Given the description of an element on the screen output the (x, y) to click on. 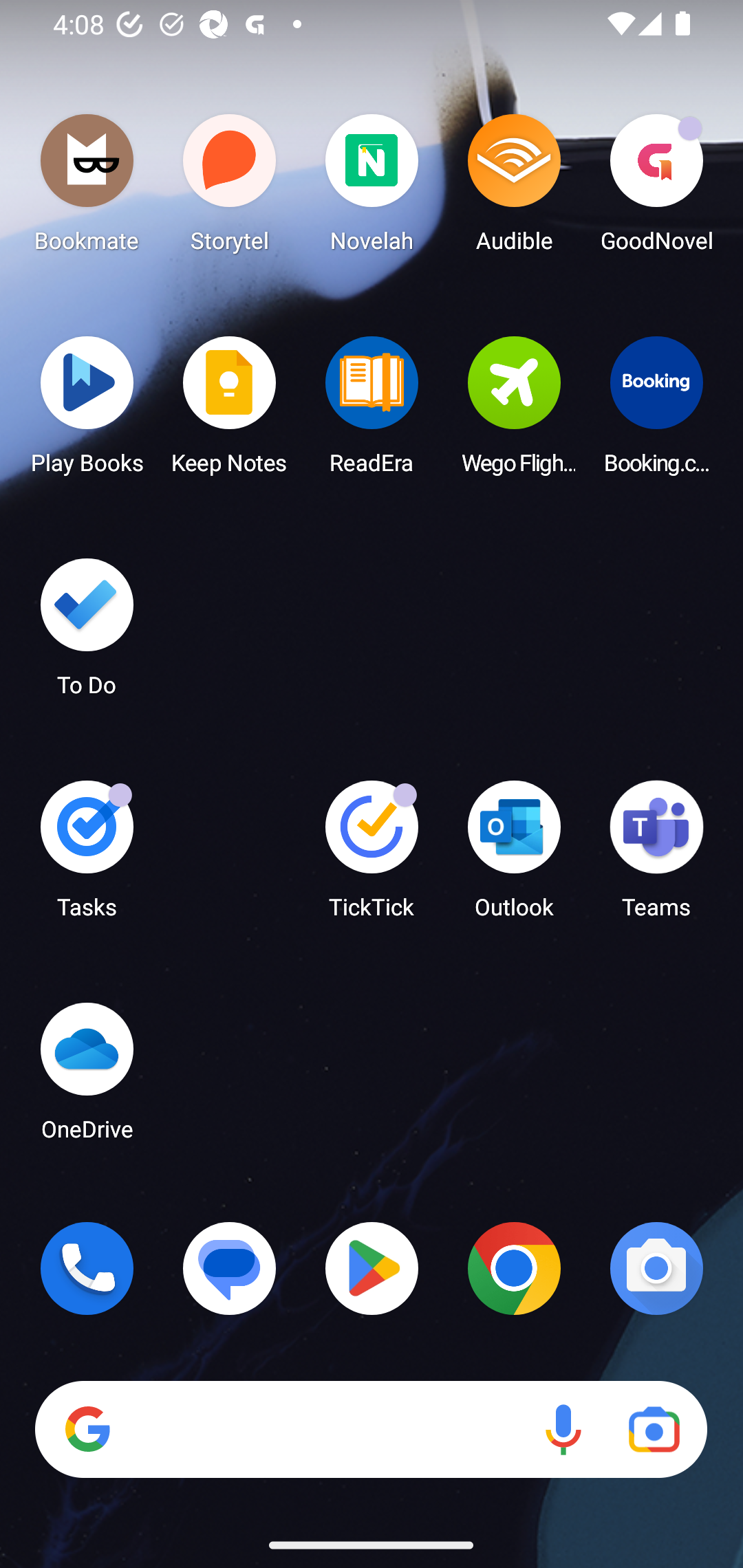
Bookmate (86, 188)
Storytel (229, 188)
Novelah (371, 188)
Audible (513, 188)
GoodNovel GoodNovel has 1 notification (656, 188)
Play Books (86, 410)
Keep Notes (229, 410)
ReadEra (371, 410)
Wego Flights & Hotels (513, 410)
Booking.com (656, 410)
To Do (86, 633)
Tasks Tasks has 1 notification (86, 854)
TickTick TickTick has 3 notifications (371, 854)
Outlook (513, 854)
Teams (656, 854)
OneDrive (86, 1076)
Phone (86, 1268)
Messages (229, 1268)
Play Store (371, 1268)
Chrome (513, 1268)
Camera (656, 1268)
Search Voice search Google Lens (370, 1429)
Voice search (562, 1429)
Google Lens (653, 1429)
